Given the description of an element on the screen output the (x, y) to click on. 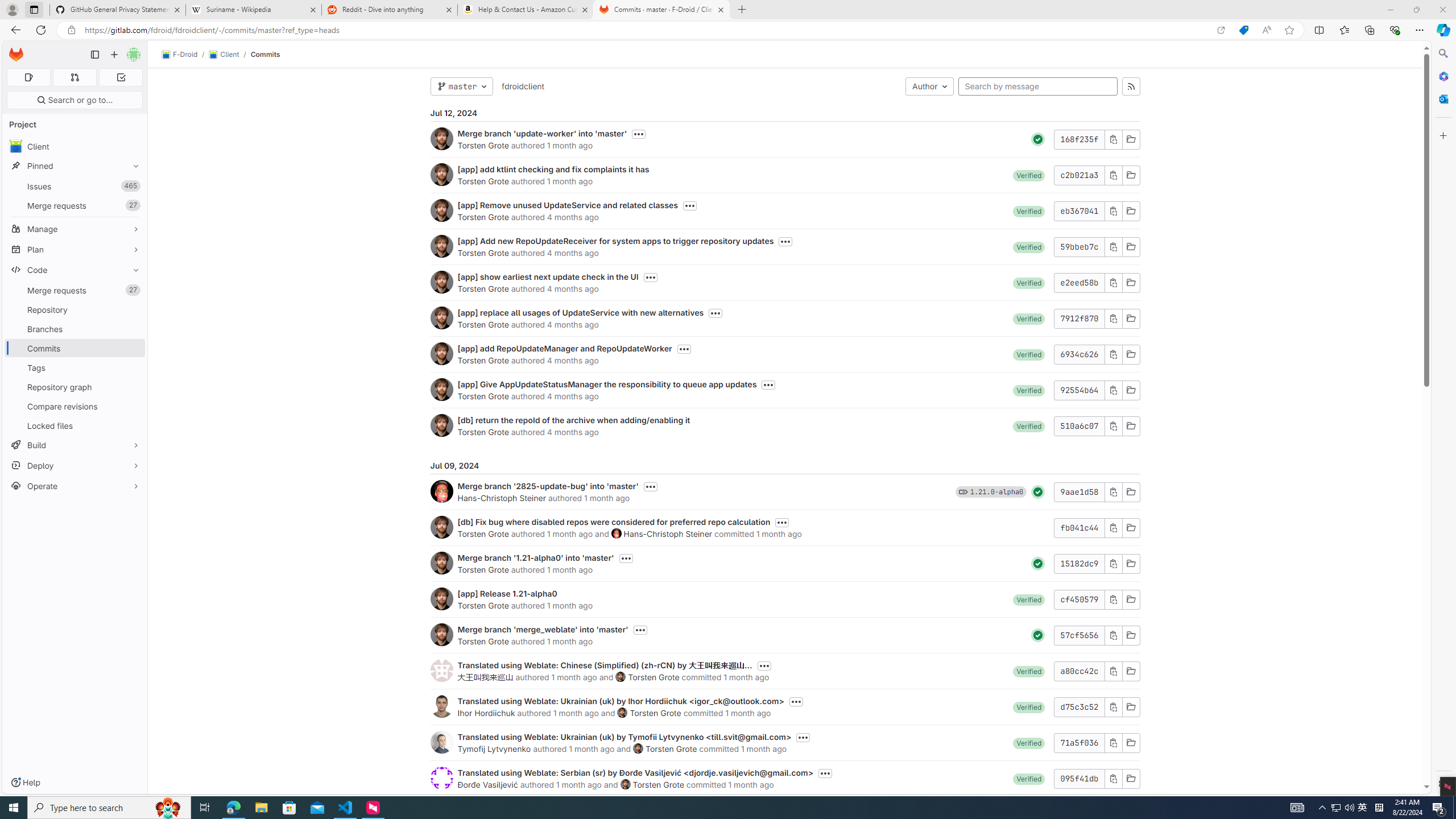
Search highlights icon opens search home window (167, 807)
Tymofij Lytvynenko (494, 748)
Open in app (1220, 29)
Q2790: 100% (1349, 807)
Create new... (113, 54)
Read aloud this page (Ctrl+Shift+U) (1266, 29)
Operate (74, 485)
Client/ (229, 54)
Deploy (74, 465)
Notification Chevron (1322, 807)
